Given the description of an element on the screen output the (x, y) to click on. 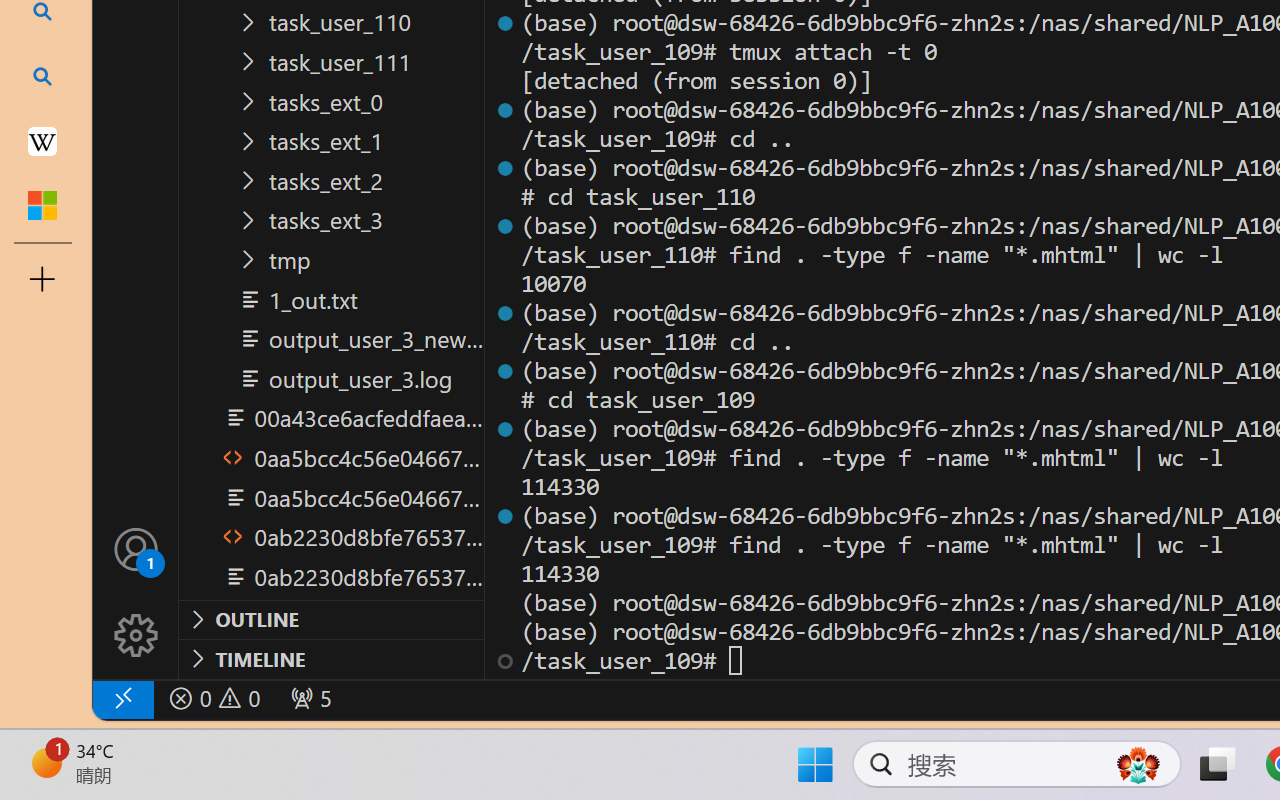
Earth - Wikipedia (42, 140)
Outline Section (331, 619)
Timeline Section (331, 658)
Forwarded Ports: 36301, 47065, 38781, 45817, 50331 (308, 698)
remote (122, 698)
No Problems (212, 698)
Manage (135, 591)
Accounts - Sign in requested (135, 548)
